Given the description of an element on the screen output the (x, y) to click on. 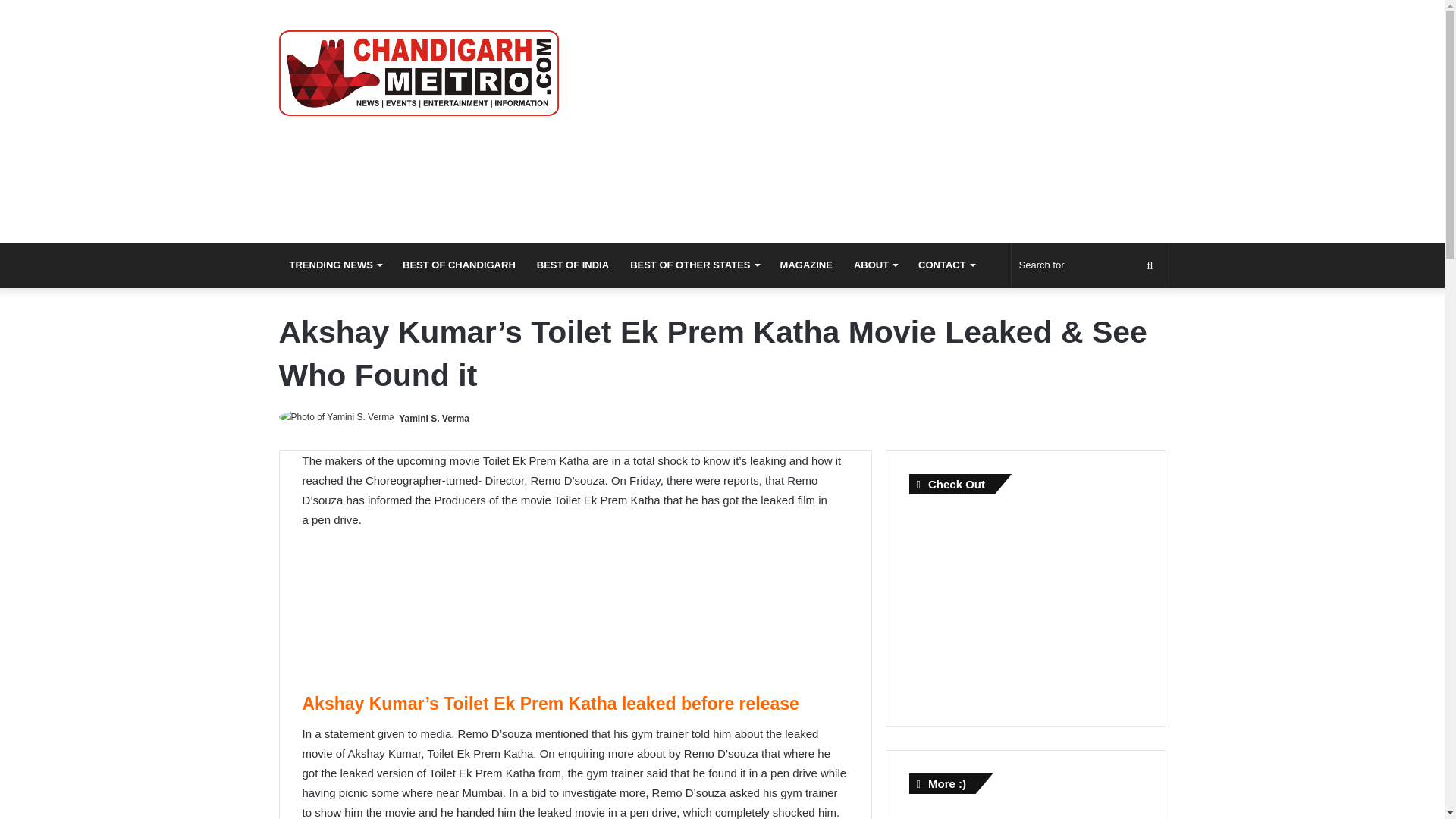
BEST OF CHANDIGARH (458, 265)
Advertisement (874, 121)
BEST OF INDIA (572, 265)
Yamini S. Verma (433, 418)
Advertisement (1022, 814)
MAGAZINE (806, 265)
Advertisement (574, 616)
Advertisement (1022, 604)
CONTACT (946, 265)
Yamini S. Verma (433, 418)
